Given the description of an element on the screen output the (x, y) to click on. 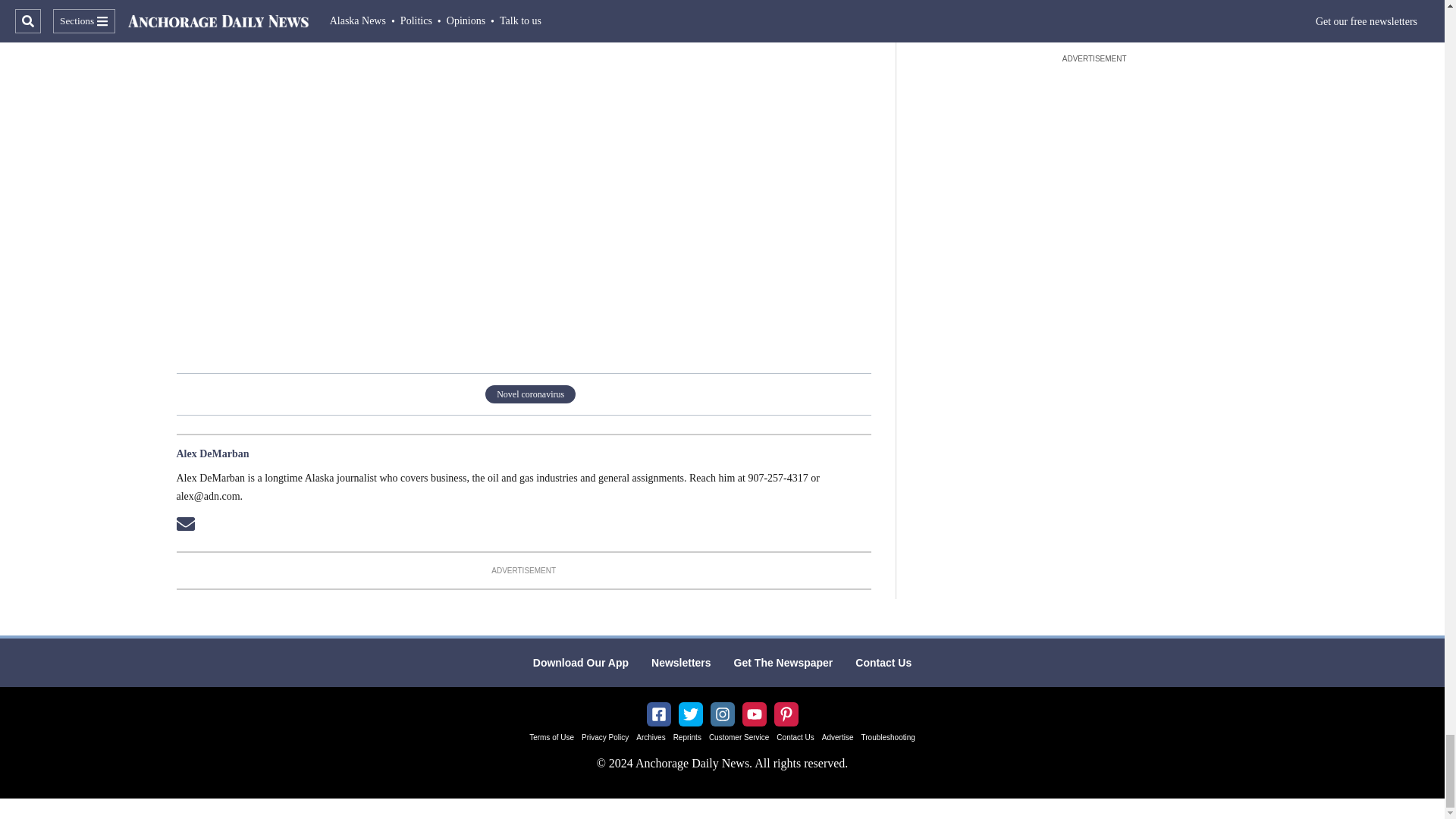
Facebook IconAnchorage Daily News Facebook Page (657, 713)
YouTube iconAnchorage Daily News YouTube channel (753, 713)
Instagram IconAnchorage Daily News instagram account (721, 713)
PinterestAnchorage Daily News Pinterest Account (785, 713)
Twitter IconTwitter Account for Anchorage Daily News (689, 713)
